Given the description of an element on the screen output the (x, y) to click on. 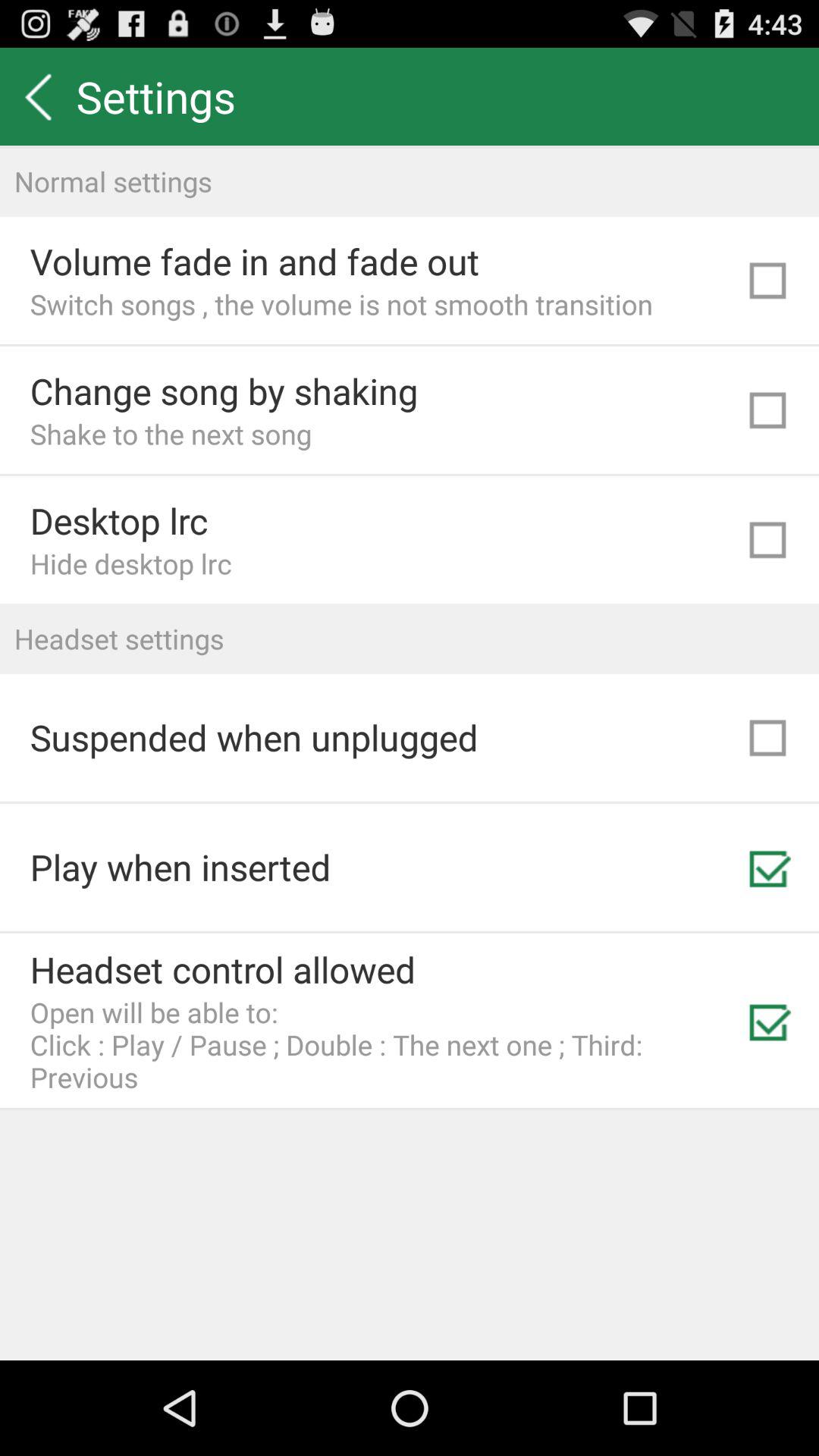
click the icon above suspended when unplugged icon (409, 638)
